Given the description of an element on the screen output the (x, y) to click on. 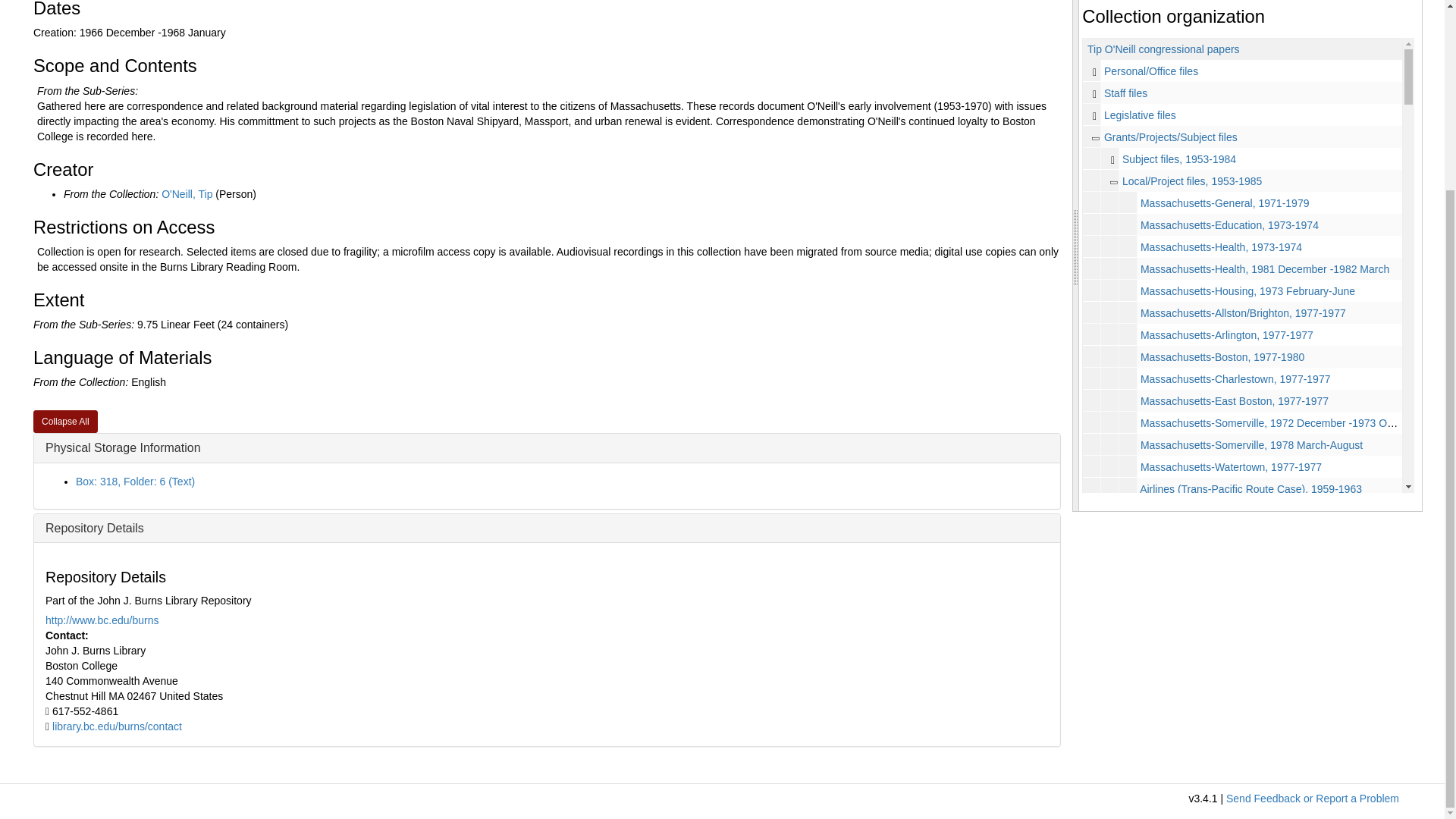
Collapse All (65, 421)
Subject files (1242, 158)
Repository Details (94, 527)
Legislative files (1139, 114)
Legislative files (1242, 115)
Subject files, 1953-1984 (1179, 159)
Physical Storage Information (122, 447)
Massachusetts-General (1242, 202)
Tip O'Neill congressional papers (1163, 49)
Staff files (1242, 92)
Staff files (1125, 92)
O'Neill, Tip (186, 193)
Send email (117, 726)
